Given the description of an element on the screen output the (x, y) to click on. 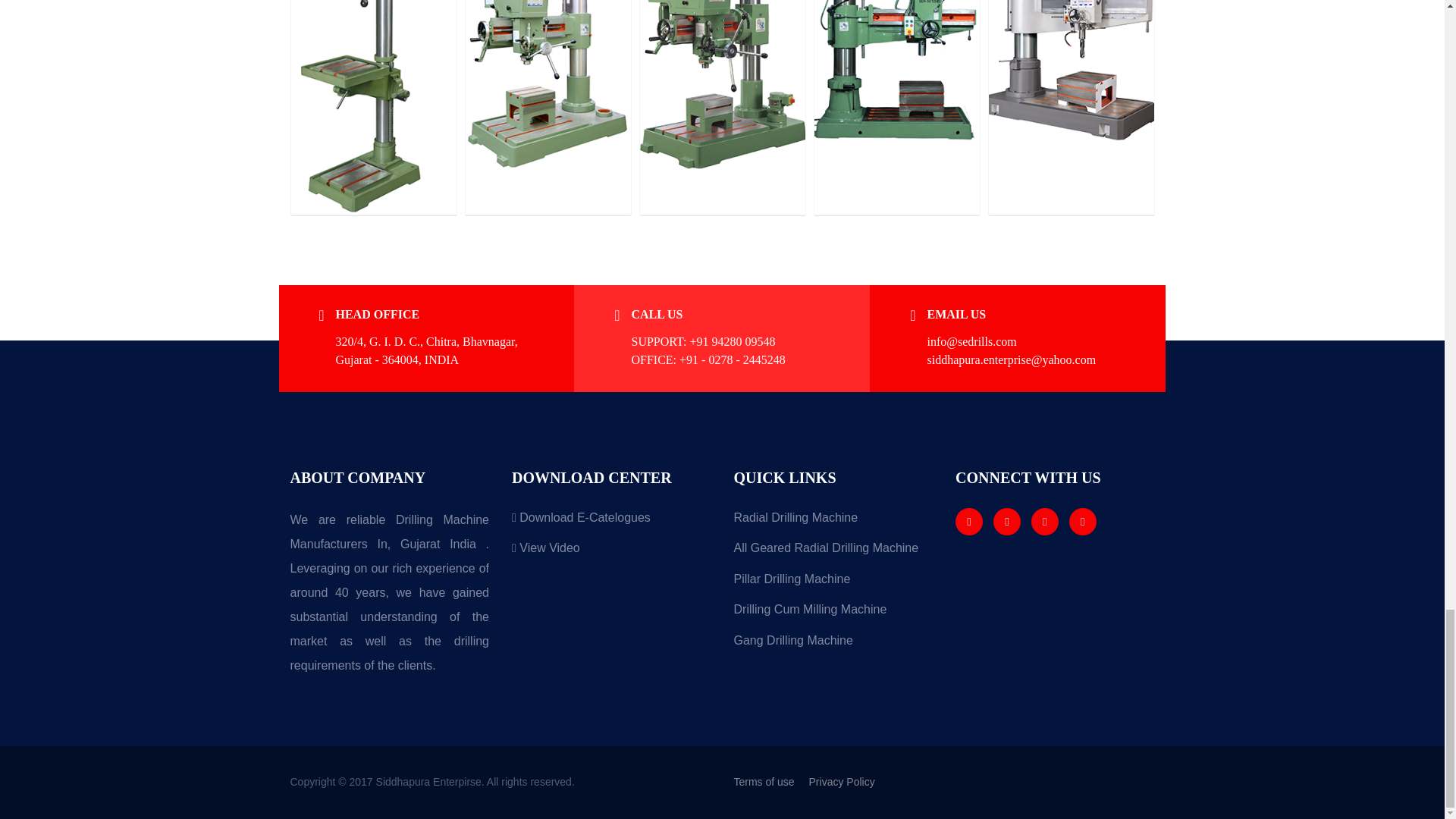
View Video (611, 553)
Gang Drilling Machine (833, 645)
Download E-Catelogues (611, 522)
Terms of use (769, 781)
Pillar Drilling Machine (833, 584)
All Geared Radial Drilling Machine (833, 553)
Radial Drilling Machine (833, 522)
Drilling Cum Milling Machine (833, 614)
Privacy Policy (847, 781)
